Given the description of an element on the screen output the (x, y) to click on. 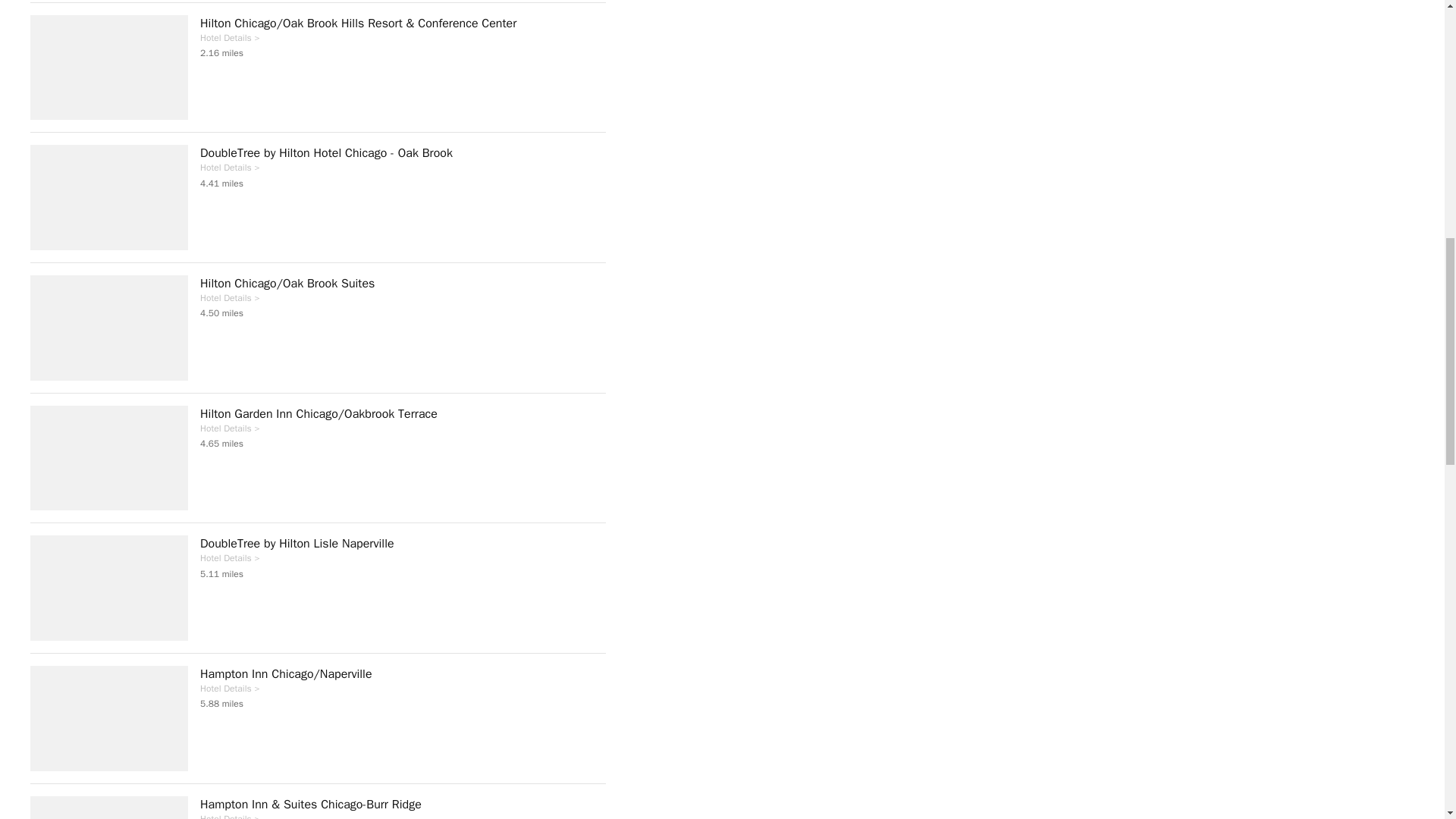
DoubleTree by Hilton Lisle Naperville (402, 543)
DoubleTree by Hilton Hotel Chicago - Oak Brook (402, 152)
